Given the description of an element on the screen output the (x, y) to click on. 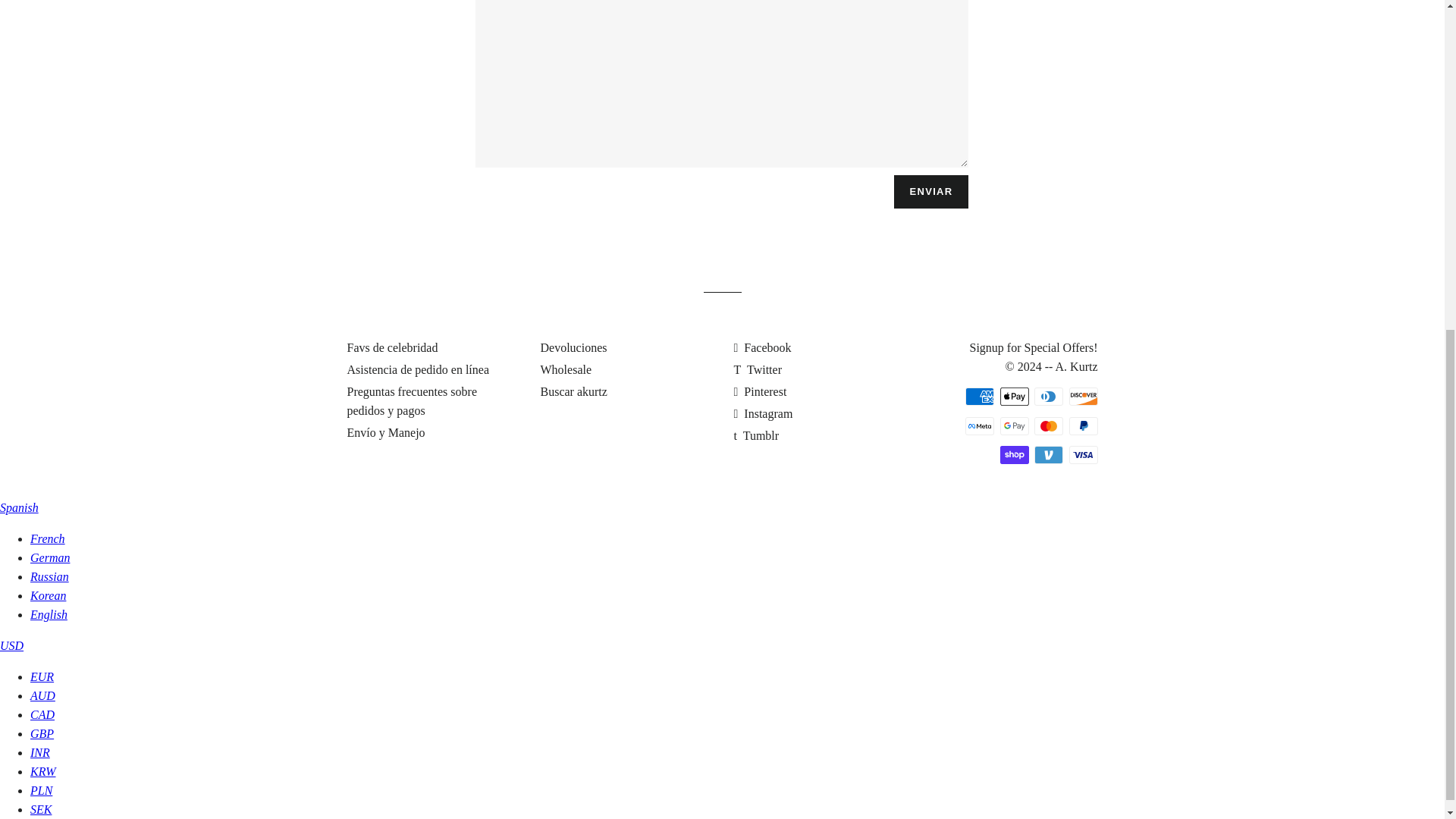
Visa (1082, 454)
Venmo (1047, 454)
Meta Pay (979, 425)
Google Pay (1012, 425)
Apple Pay (1012, 396)
A. Kurtz en Instagram (763, 413)
Mastercard (1047, 425)
Shop Pay (1012, 454)
A. Kurtz en Facebook (762, 347)
American Express (979, 396)
Diners Club (1047, 396)
Enviar (931, 191)
PayPal (1082, 425)
Discover (1082, 396)
A. Kurtz en Tumblr (755, 435)
